Given the description of an element on the screen output the (x, y) to click on. 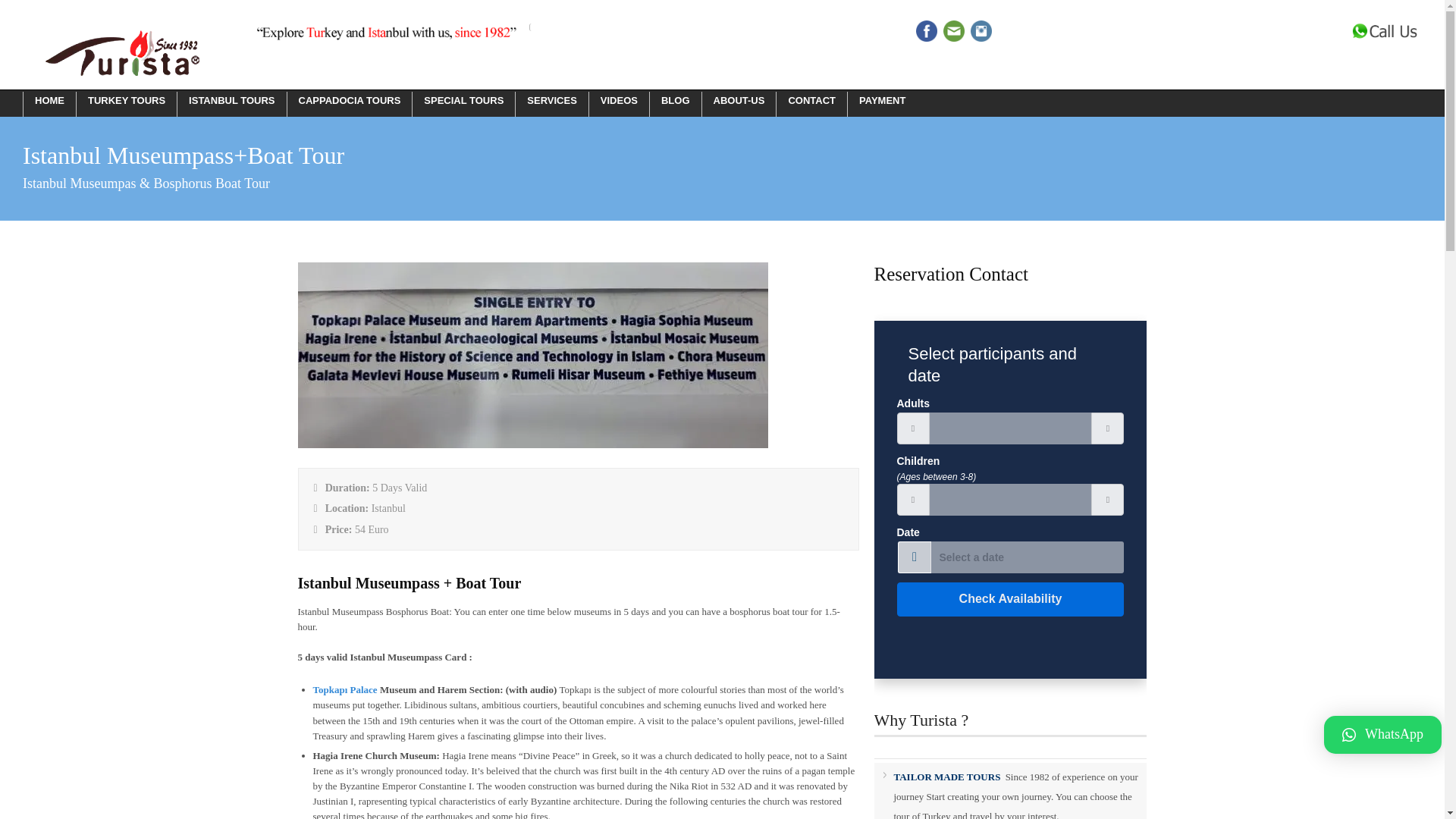
PAYMENT (882, 100)
SPECIAL TOURS (463, 100)
TURKEY TOURS (126, 100)
ISTANBUL TOURS (231, 100)
HOME (49, 100)
BLOG (675, 100)
SERVICES (551, 100)
CAPPADOCIA TOURS (349, 100)
ABOUT-US (738, 100)
VIDEOS (619, 100)
CONTACT (811, 100)
